Given the description of an element on the screen output the (x, y) to click on. 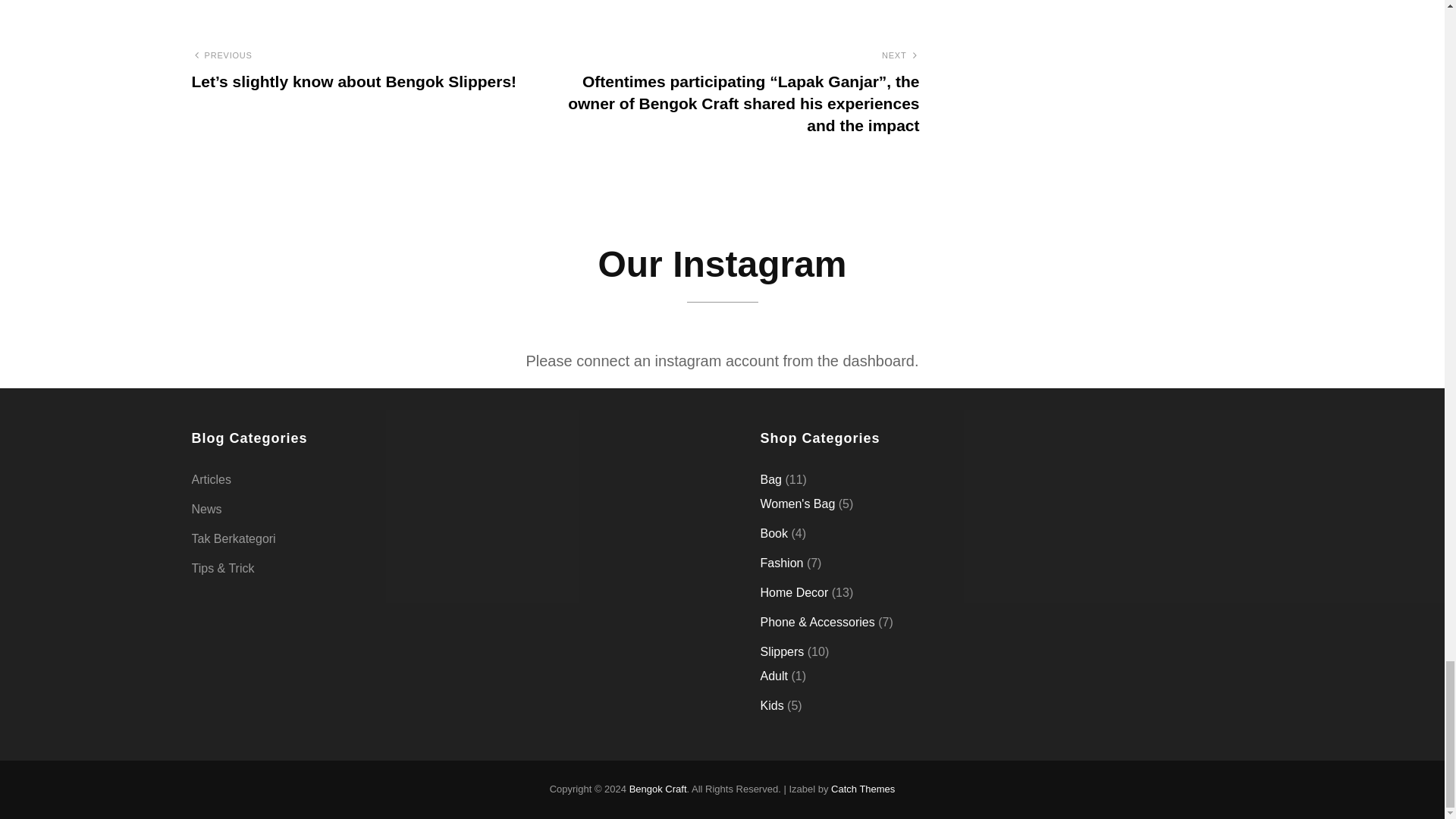
Bag (770, 479)
Tak Berkategori (232, 539)
Women's Bag (797, 503)
Articles (210, 479)
News (205, 509)
